Given the description of an element on the screen output the (x, y) to click on. 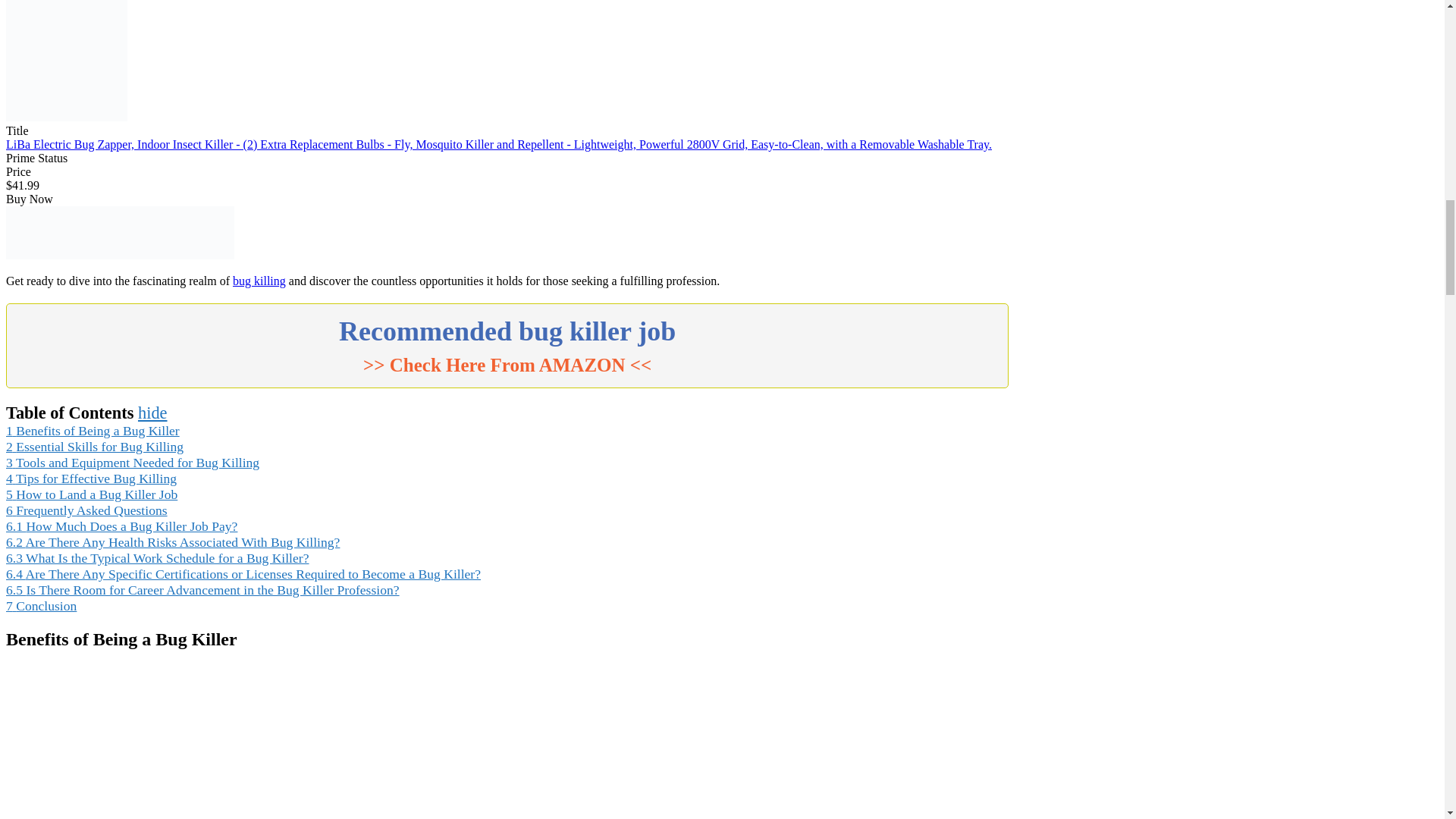
1 Benefits of Being a Bug Killer (92, 430)
bug killing (258, 280)
hide (152, 412)
